Given the description of an element on the screen output the (x, y) to click on. 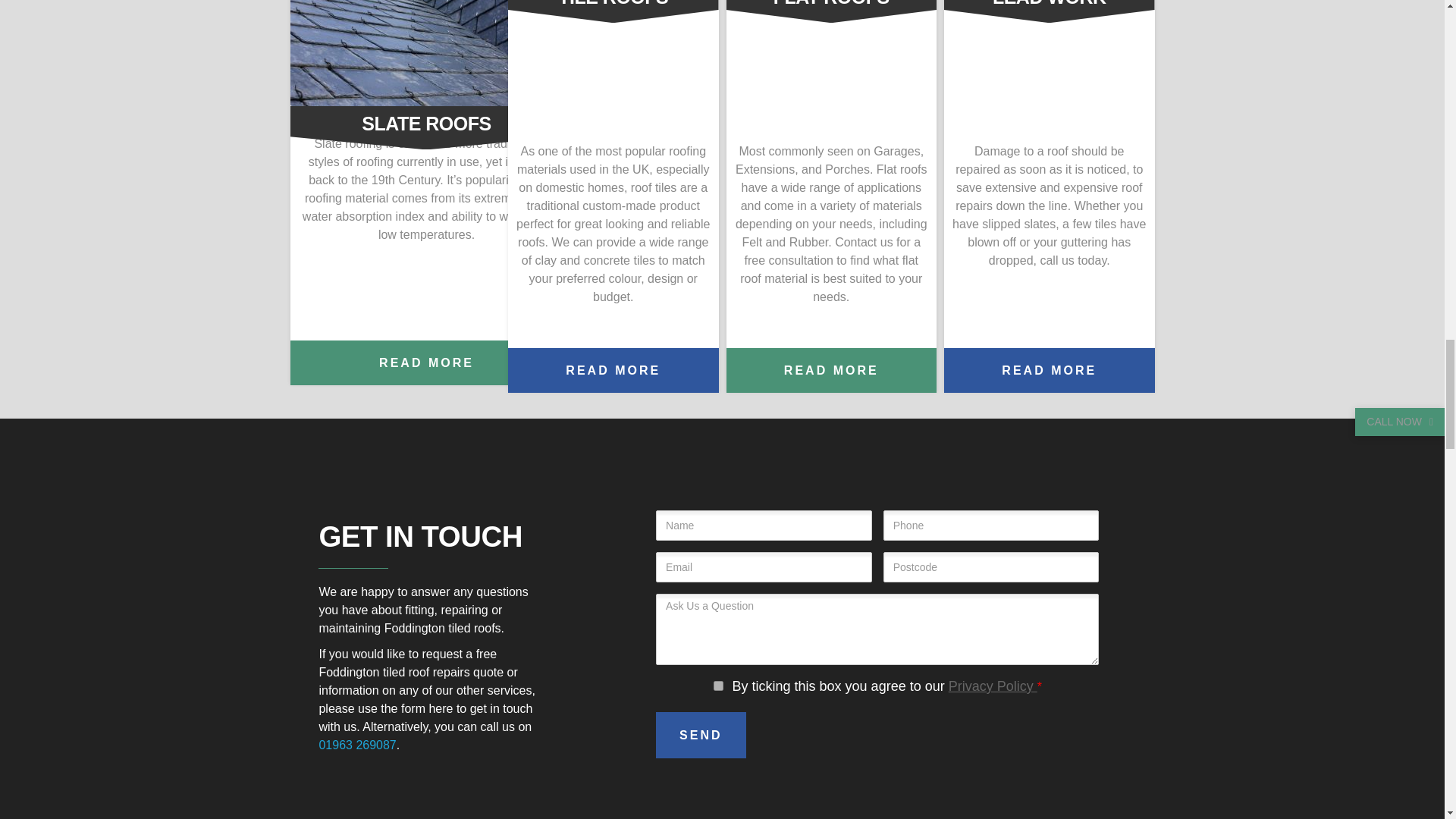
1 (718, 685)
READ MORE (831, 370)
READ MORE (613, 370)
Slate Roofs (425, 53)
Send (700, 734)
READ MORE (425, 362)
